Given the description of an element on the screen output the (x, y) to click on. 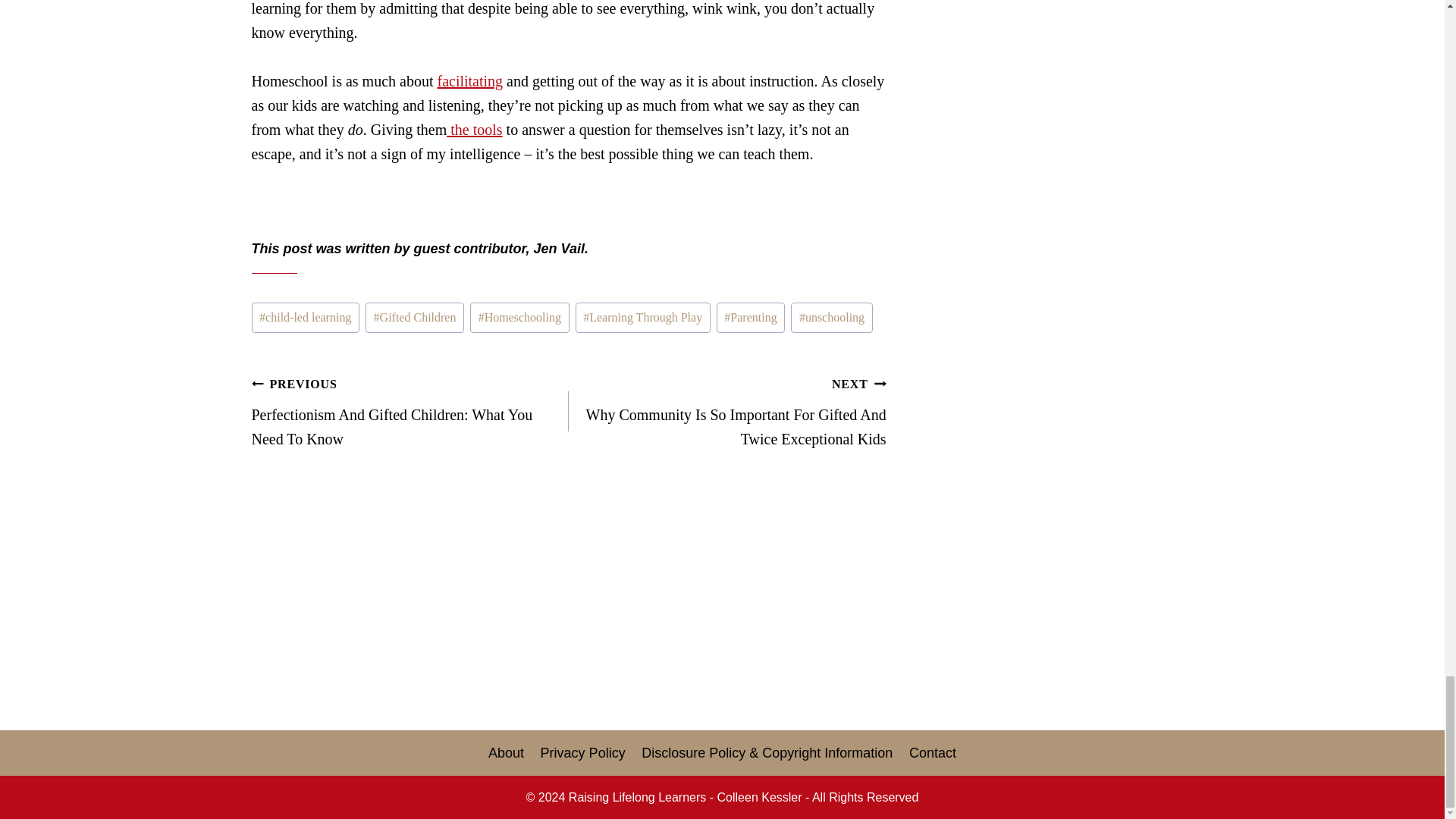
child-led learning (305, 317)
Learning Through Play (642, 317)
the tools (474, 129)
Gifted Children (414, 317)
Parenting (751, 317)
facilitating (469, 80)
unschooling (831, 317)
Homeschooling (519, 317)
